Given the description of an element on the screen output the (x, y) to click on. 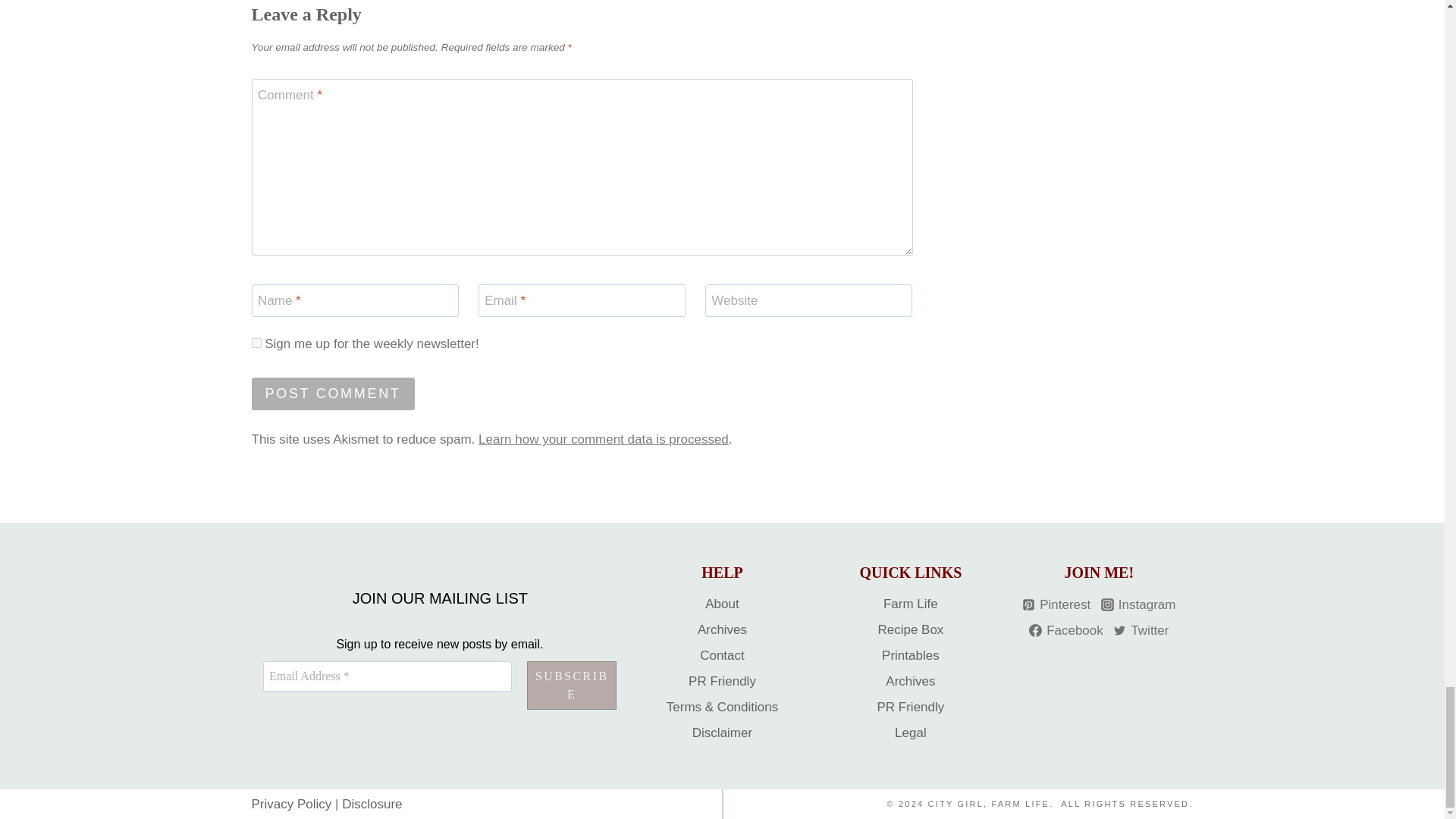
Post Comment (332, 393)
1 (256, 343)
Subscribe (571, 685)
